Given the description of an element on the screen output the (x, y) to click on. 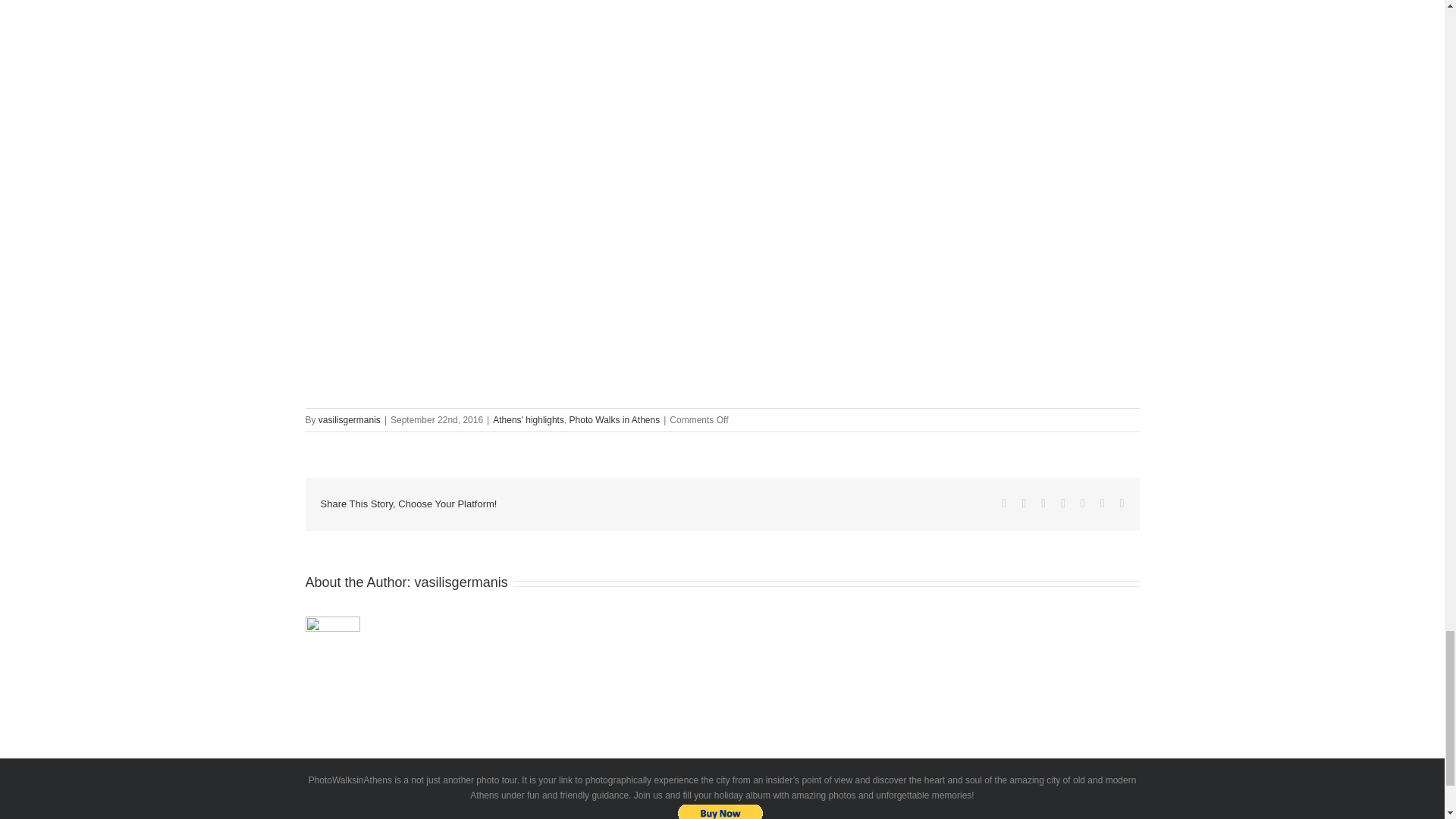
Posts by vasilisgermanis (349, 419)
